Given the description of an element on the screen output the (x, y) to click on. 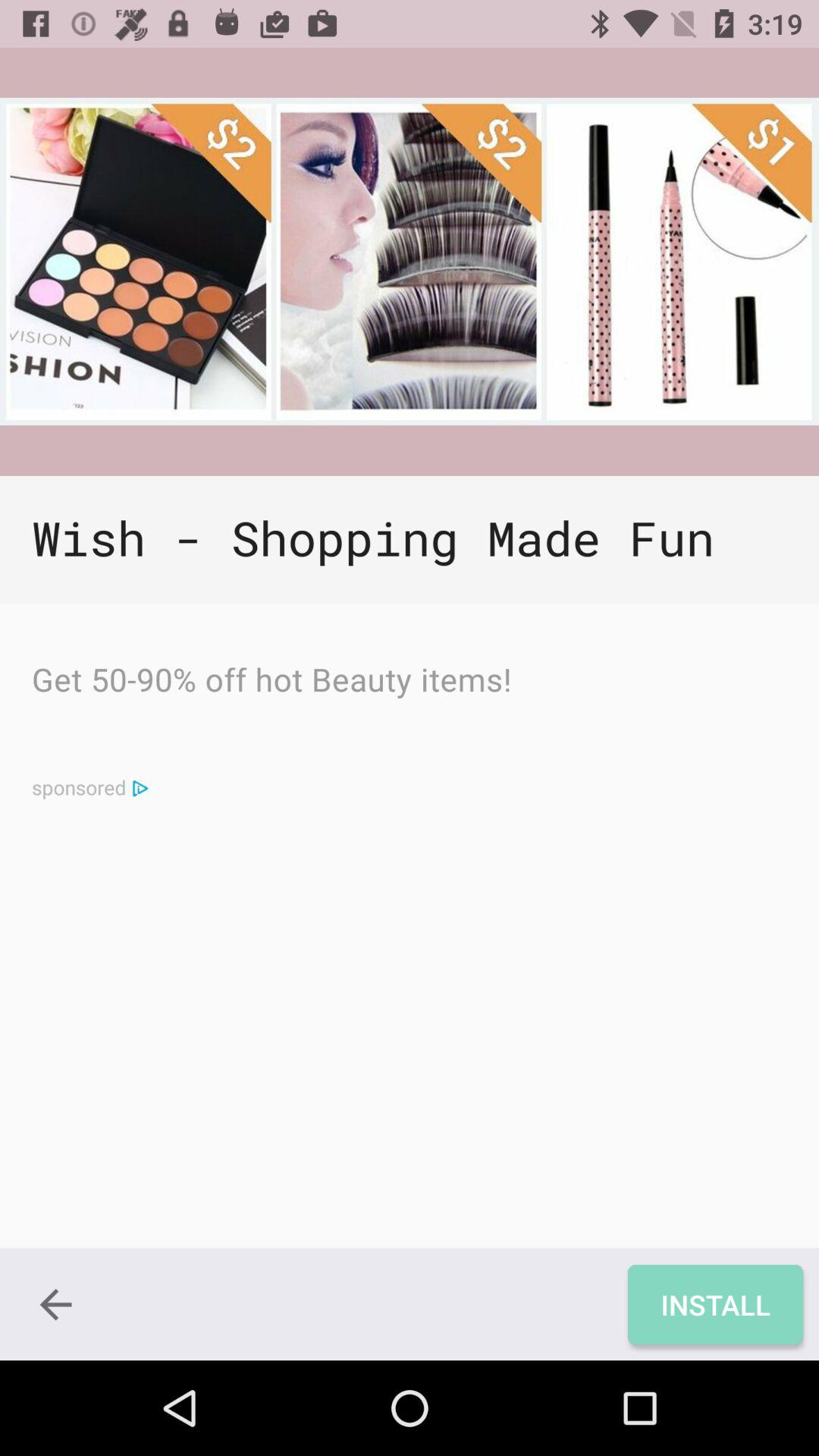
turn off icon below wish shopping made icon (271, 683)
